Given the description of an element on the screen output the (x, y) to click on. 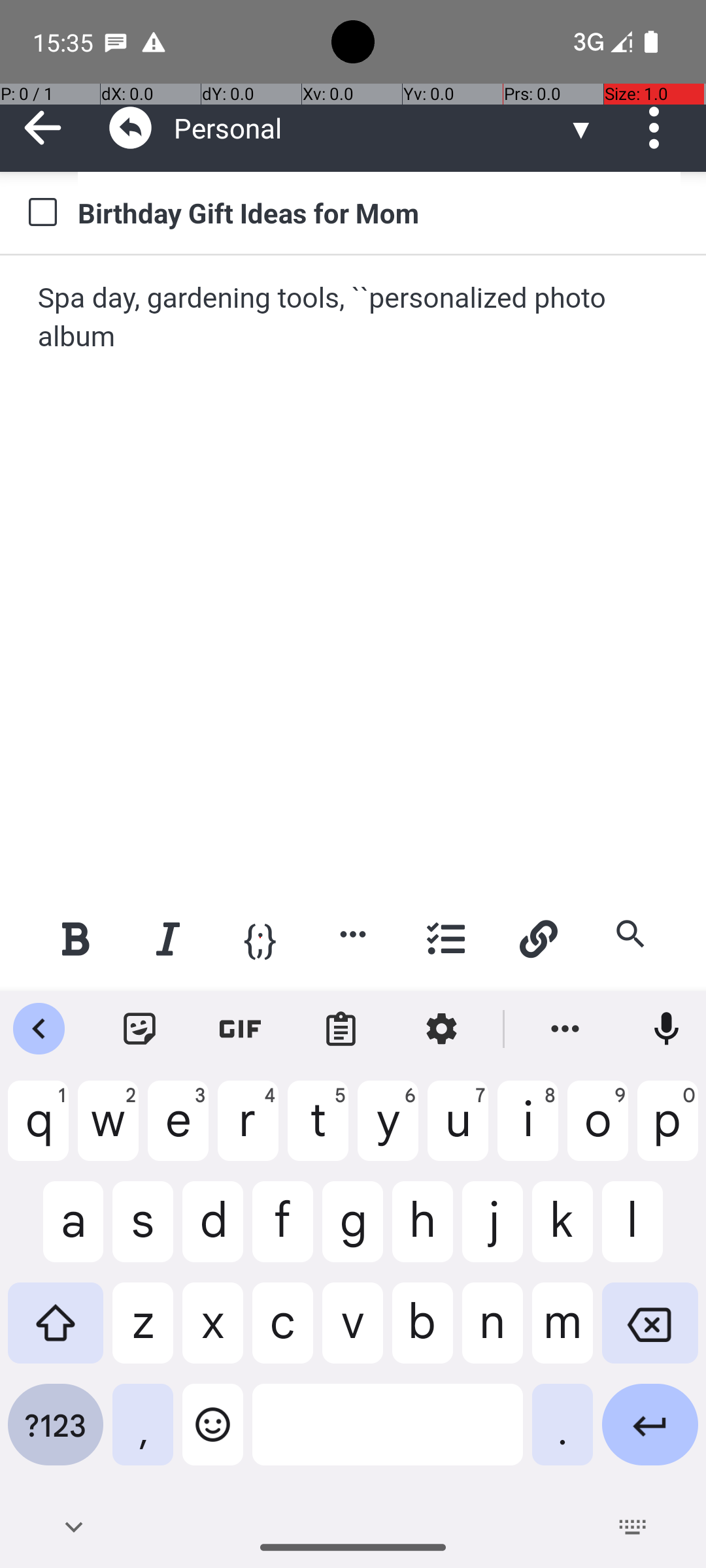
Birthday Gift Ideas for Mom Element type: android.widget.EditText (378, 212)
Find and replace Element type: android.widget.Button (630, 933)
 Element type: android.widget.TextView (130, 127)
Personal Element type: android.widget.TextView (369, 127)
Spa day, gardening tools, ``personalized photo album Element type: android.widget.EditText (354, 317)
